Given the description of an element on the screen output the (x, y) to click on. 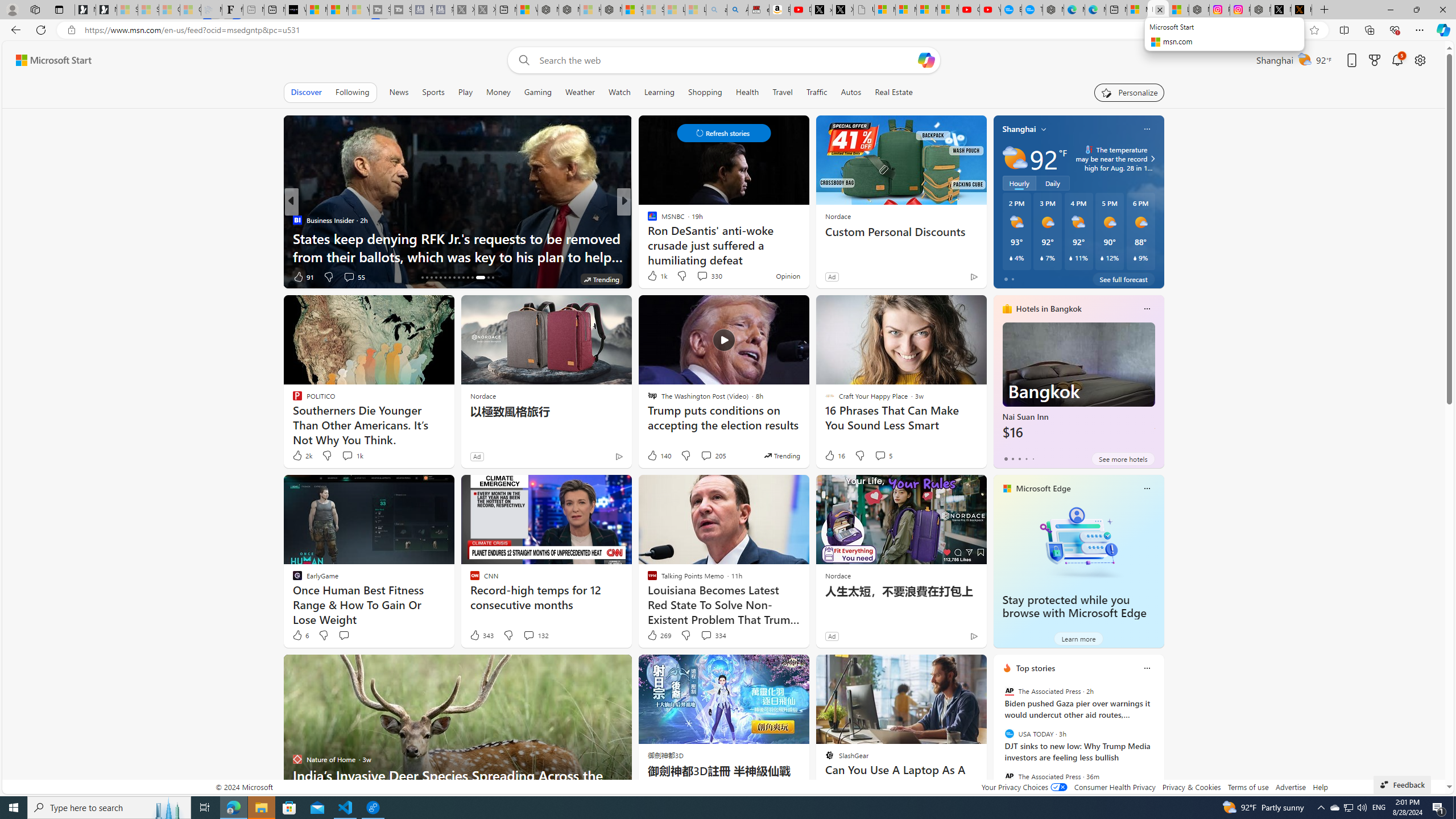
View comments 1k Comment (346, 455)
Amazon Echo Dot PNG - Search Images (737, 9)
View comments 266 Comment (6, 276)
View comments 5 Comment (882, 455)
Traffic (816, 92)
View comments 5 Comment (879, 455)
Web search (520, 60)
Learning (658, 92)
